Given the description of an element on the screen output the (x, y) to click on. 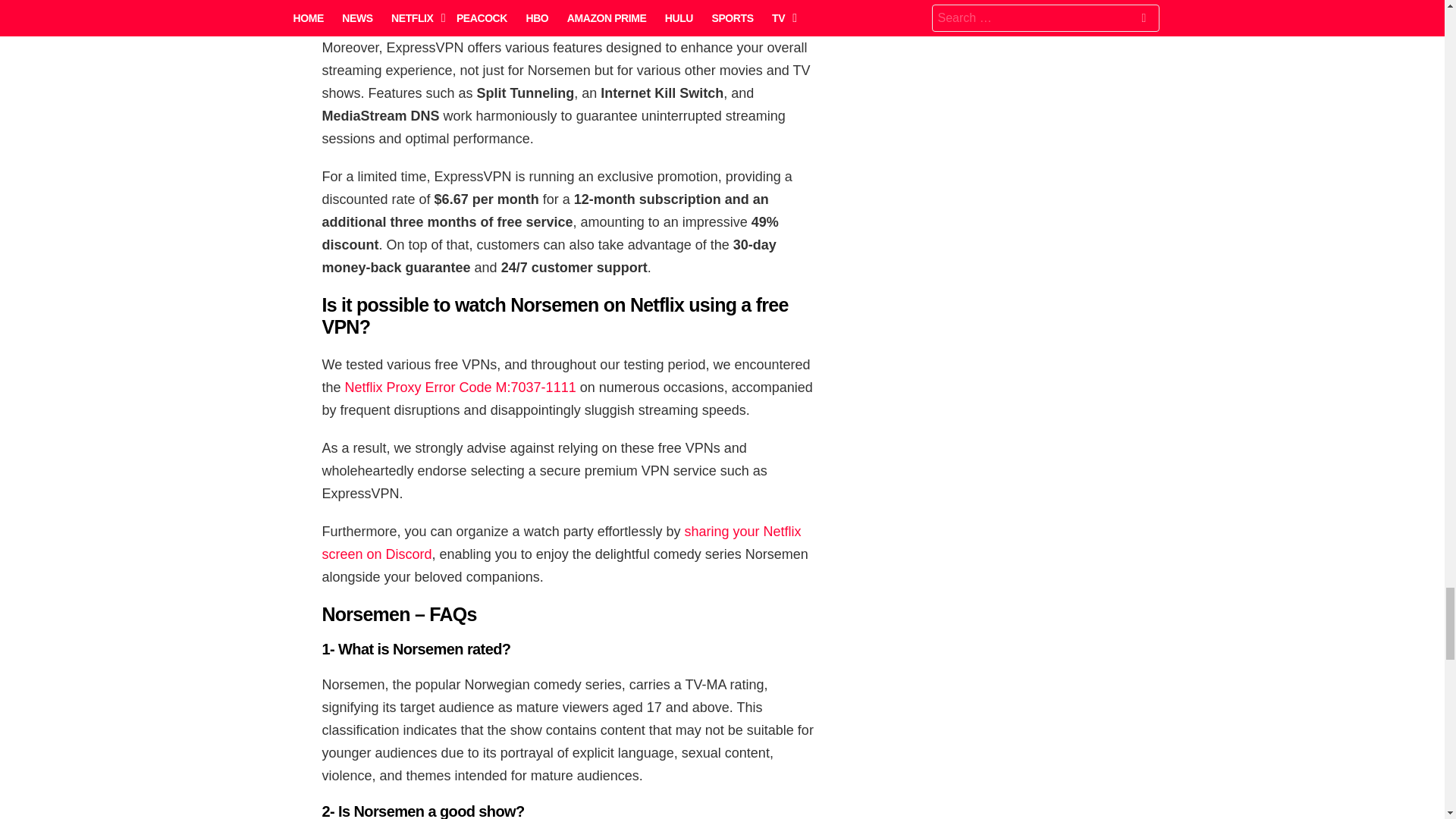
Netflix Proxy Error Code M:7037-1111 (460, 387)
sharing your Netflix screen on Discord (560, 542)
